Given the description of an element on the screen output the (x, y) to click on. 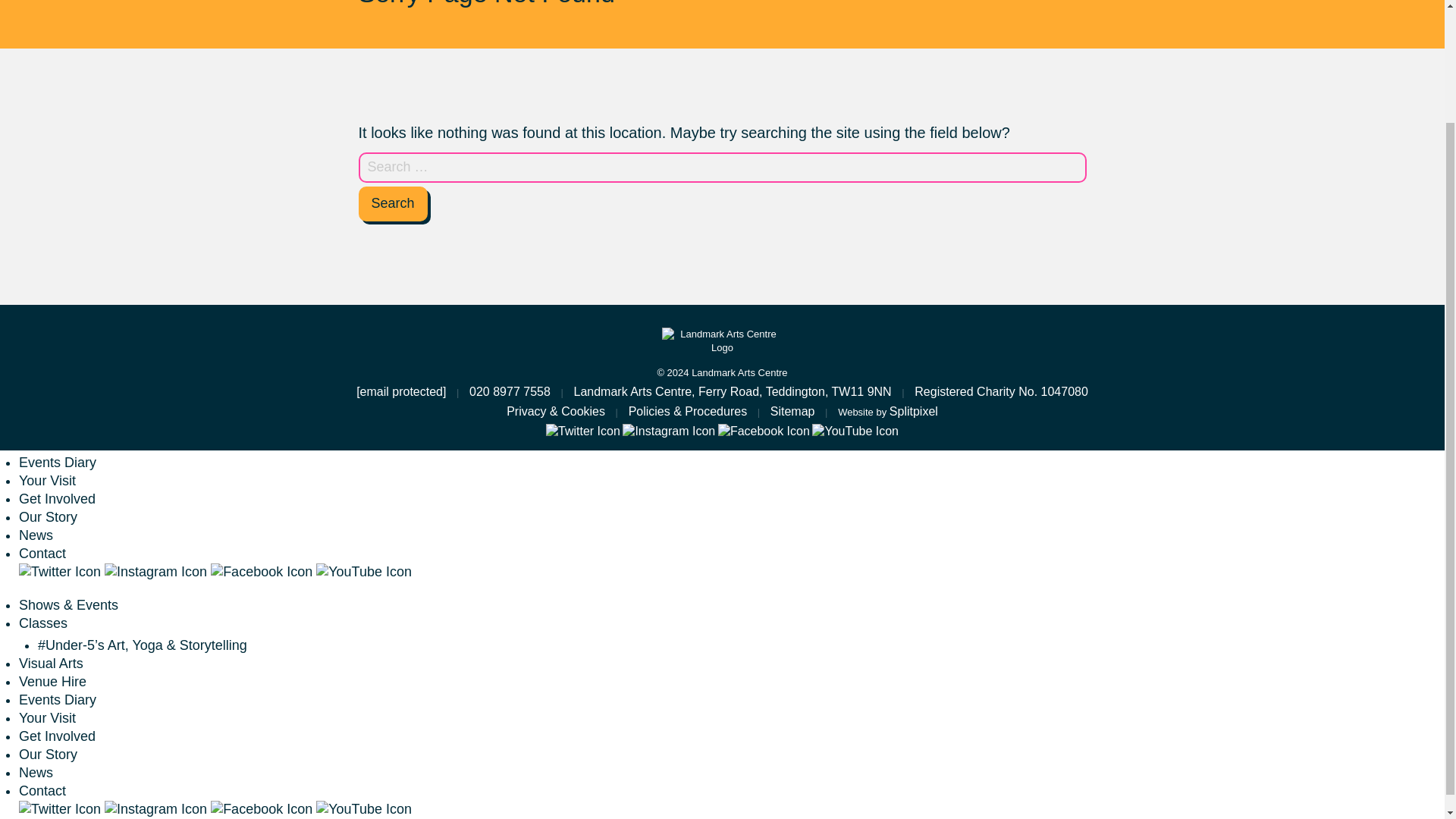
020 8977 7558 (509, 391)
Search (392, 203)
Splitpixel (913, 410)
Search (392, 203)
Search (392, 203)
Sitemap (792, 410)
